Given the description of an element on the screen output the (x, y) to click on. 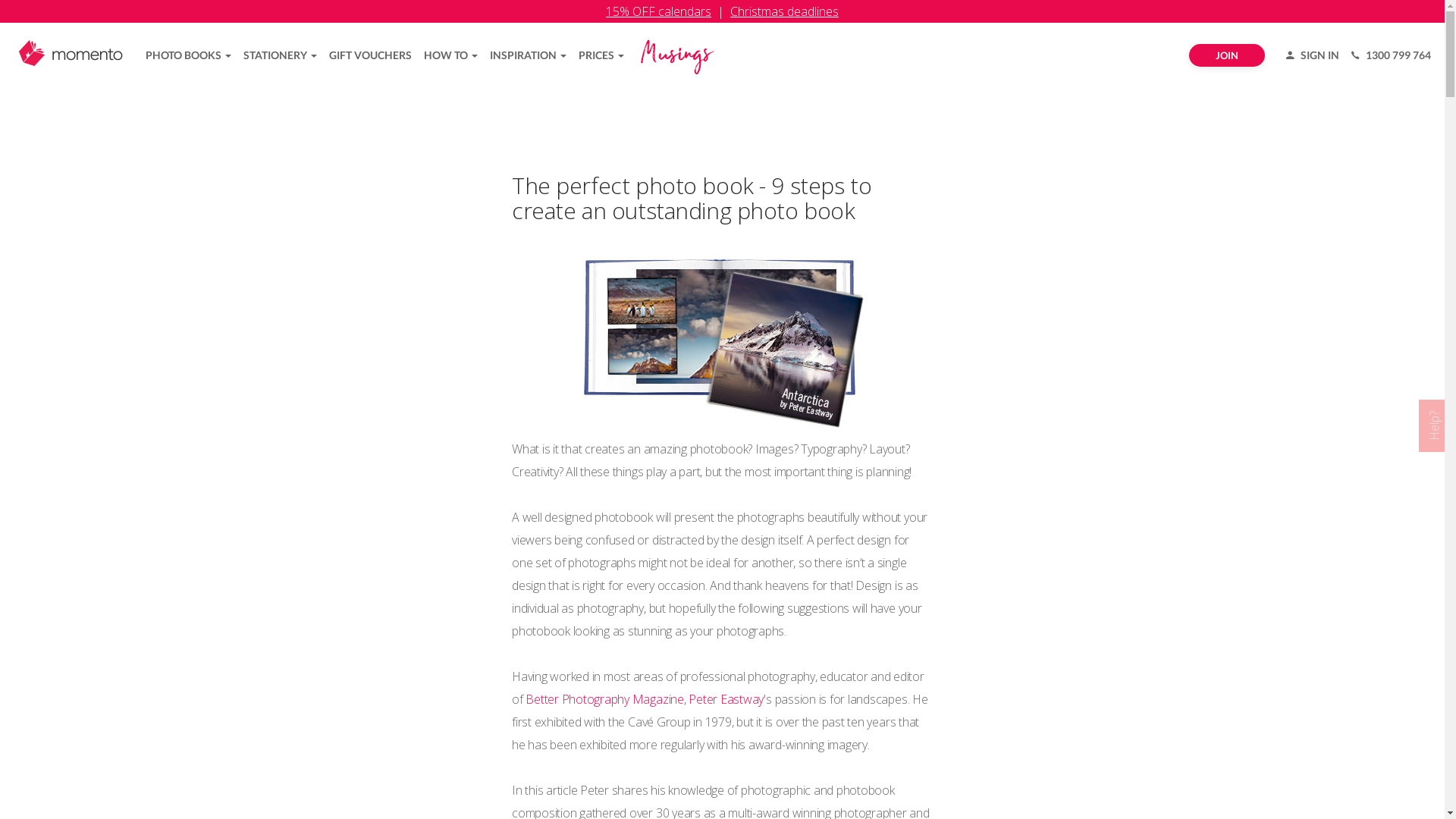
SIGN IN Element type: text (1312, 55)
GIFT VOUCHERS Element type: text (370, 55)
HOW TO Element type: text (450, 55)
PRICES Element type: text (601, 55)
Christmas deadlines Element type: text (784, 11)
Better Photography Magazine Element type: text (604, 698)
JOIN Element type: text (1226, 54)
STATIONERY Element type: text (280, 55)
15% OFF calendars Element type: text (658, 11)
1300 799 764 Element type: text (1391, 55)
INSPIRATION Element type: text (527, 55)
PHOTO BOOKS Element type: text (188, 55)
Peter Eastway Element type: text (725, 698)
